Given the description of an element on the screen output the (x, y) to click on. 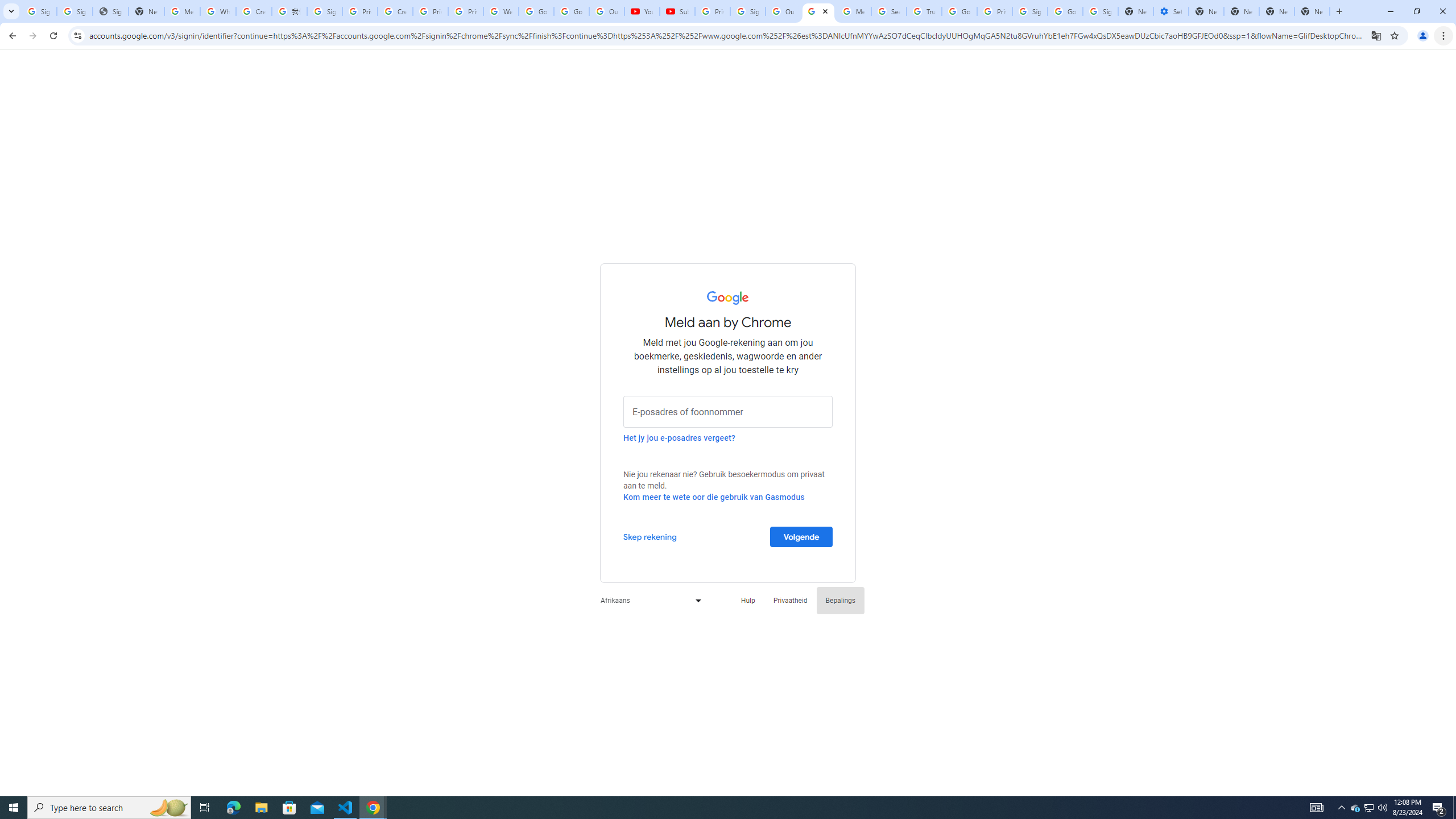
New Tab (1276, 11)
